Given the description of an element on the screen output the (x, y) to click on. 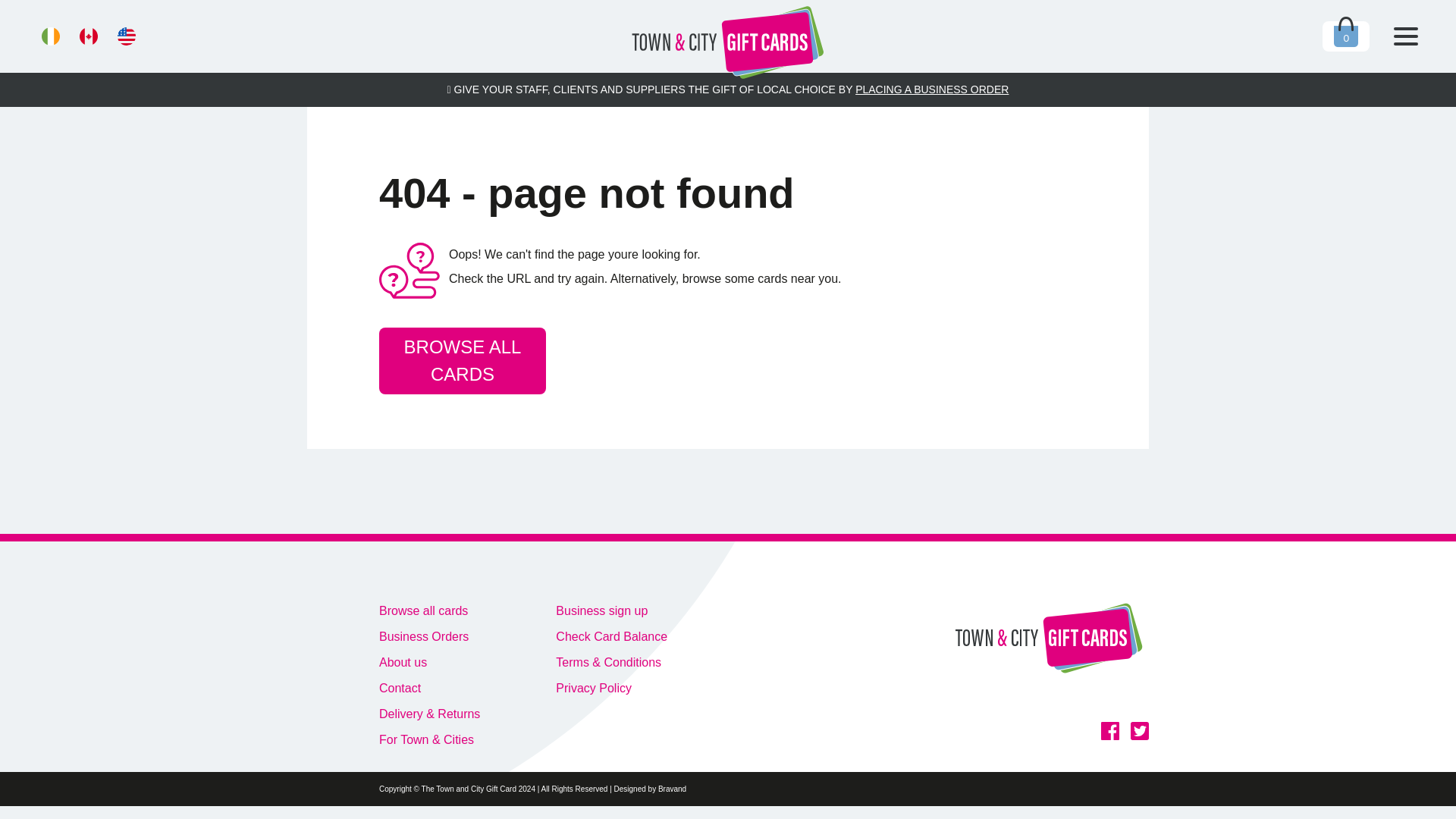
Contact (429, 688)
Check Card Balance (611, 637)
Browse all cards (429, 610)
0 (1346, 36)
PLACING A BUSINESS ORDER (932, 89)
Business sign up (611, 610)
Business Orders (429, 637)
About us (429, 662)
BROWSE ALL CARDS (462, 360)
Privacy Policy (611, 688)
